Given the description of an element on the screen output the (x, y) to click on. 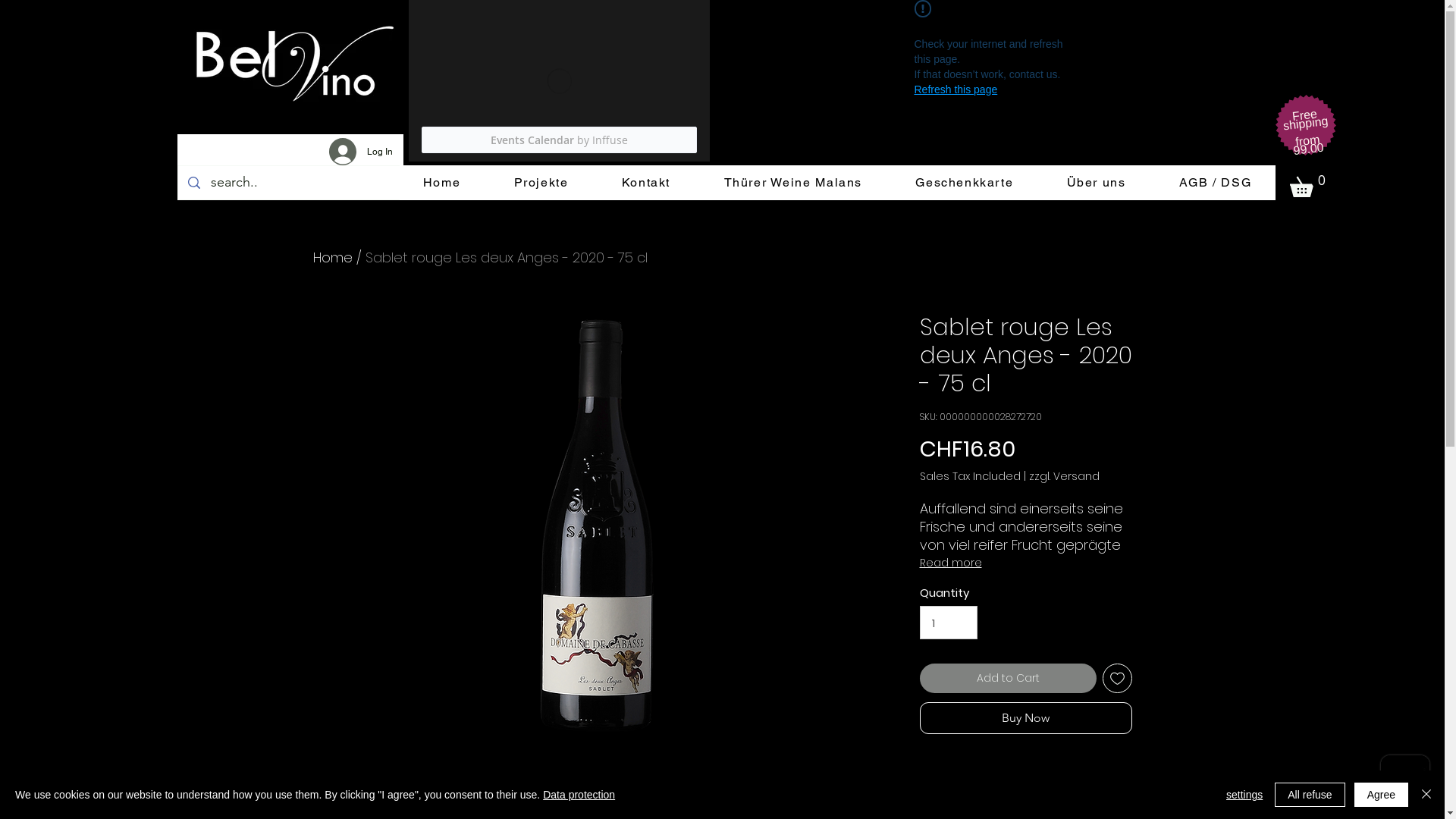
Projekte Element type: text (540, 182)
All refuse Element type: text (1309, 794)
Log In Element type: text (360, 151)
Sablet rouge Les deux Anges - 2020 - 75 cl Element type: text (506, 256)
Home Element type: text (331, 256)
zzgl. Versand Element type: text (1063, 476)
Geschenkkarte Element type: text (963, 182)
AGB / DSG Element type: text (1215, 182)
Refresh this page Element type: text (955, 89)
Add to Cart Element type: text (1007, 678)
Buy Now Element type: text (1025, 718)
0 Element type: text (1310, 183)
Agree Element type: text (1381, 794)
Kontakt Element type: text (646, 182)
Data protection Element type: text (578, 794)
Read more Element type: text (1025, 562)
Events Calendar Element type: hover (558, 80)
Home Element type: text (440, 182)
